Given the description of an element on the screen output the (x, y) to click on. 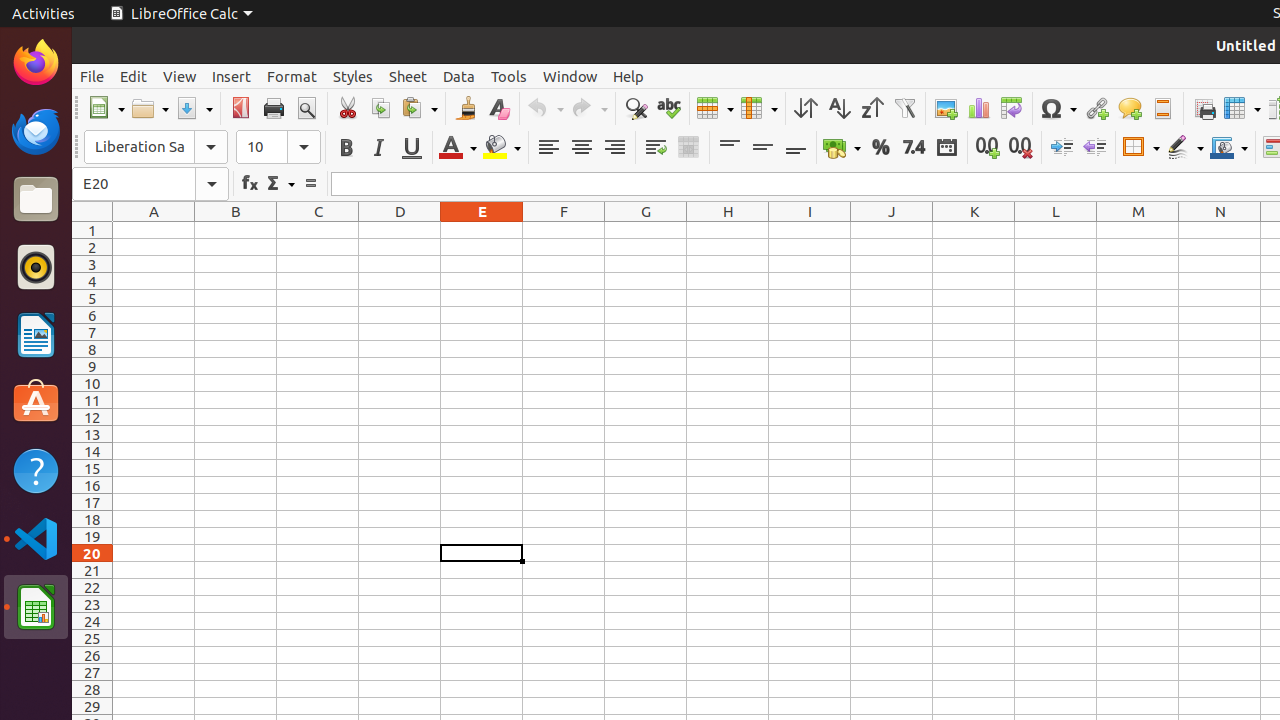
M1 Element type: table-cell (1138, 230)
Ubuntu Software Element type: push-button (36, 402)
G1 Element type: table-cell (646, 230)
Italic Element type: toggle-button (378, 147)
Align Right Element type: push-button (614, 147)
